Given the description of an element on the screen output the (x, y) to click on. 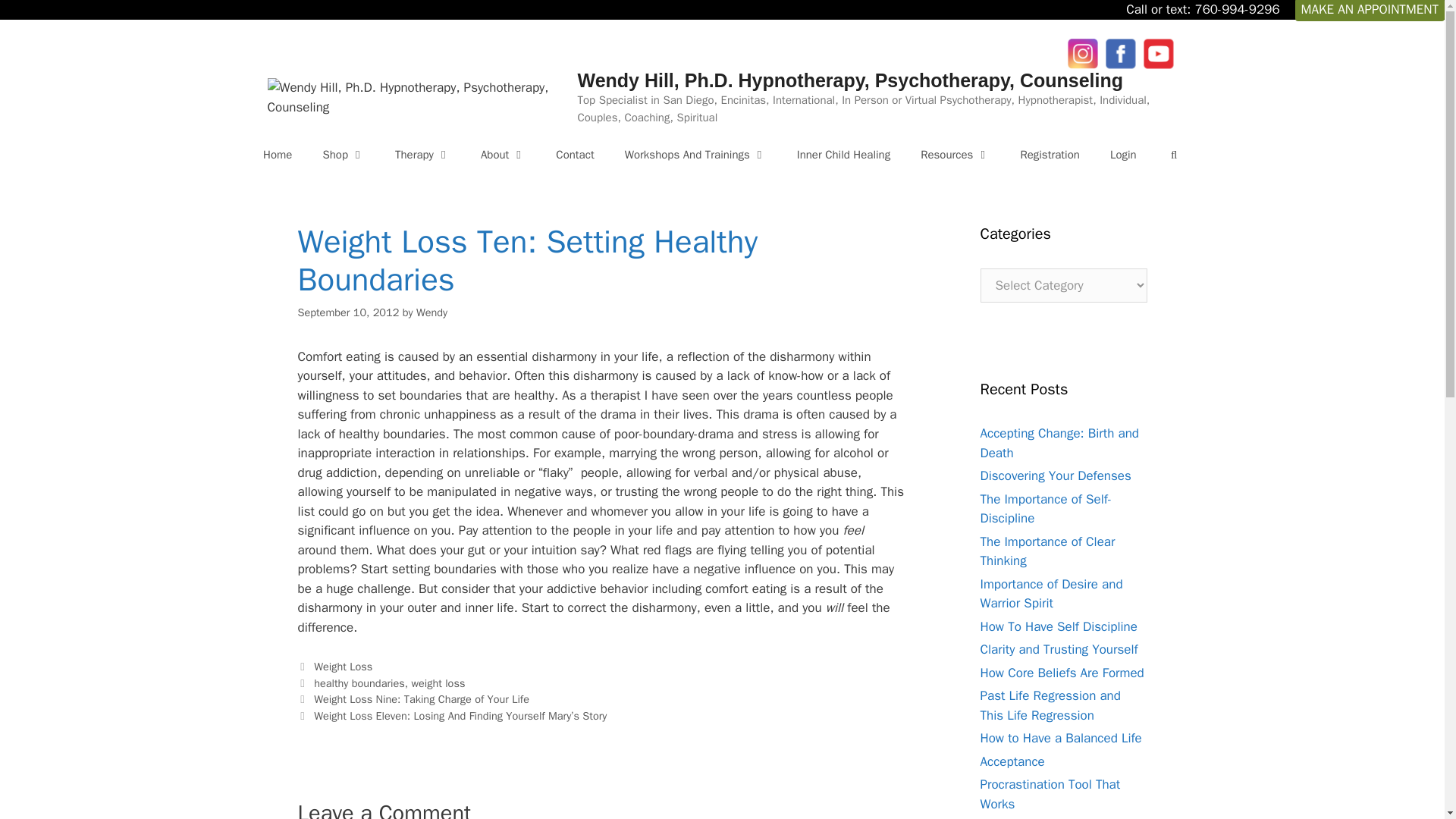
Shop (343, 154)
Home (277, 154)
Wendy Hill, Ph.D. Hypnotherapy, Psychotherapy, Counseling (849, 79)
About (502, 154)
View all posts by Wendy (431, 312)
Workshops And Trainings (695, 154)
Contact (574, 154)
760-994-9296 (1236, 9)
Therapy (422, 154)
